Given the description of an element on the screen output the (x, y) to click on. 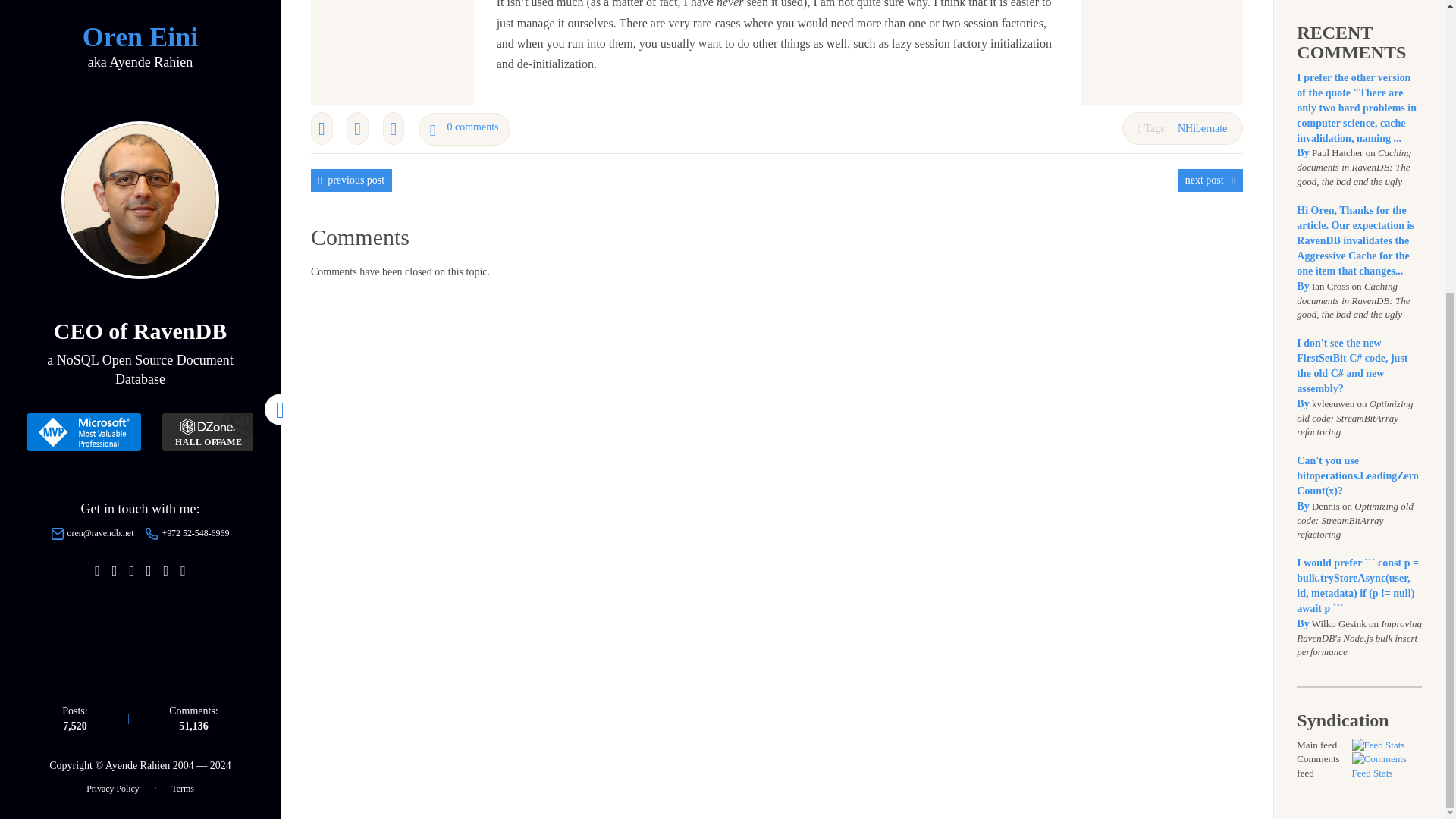
Privacy Policy (112, 340)
Terms (182, 340)
DZone 2020 Hall of Fame Award Winner (207, 2)
Microsoft MVP Reconnect Oren Eini (84, 2)
